Given the description of an element on the screen output the (x, y) to click on. 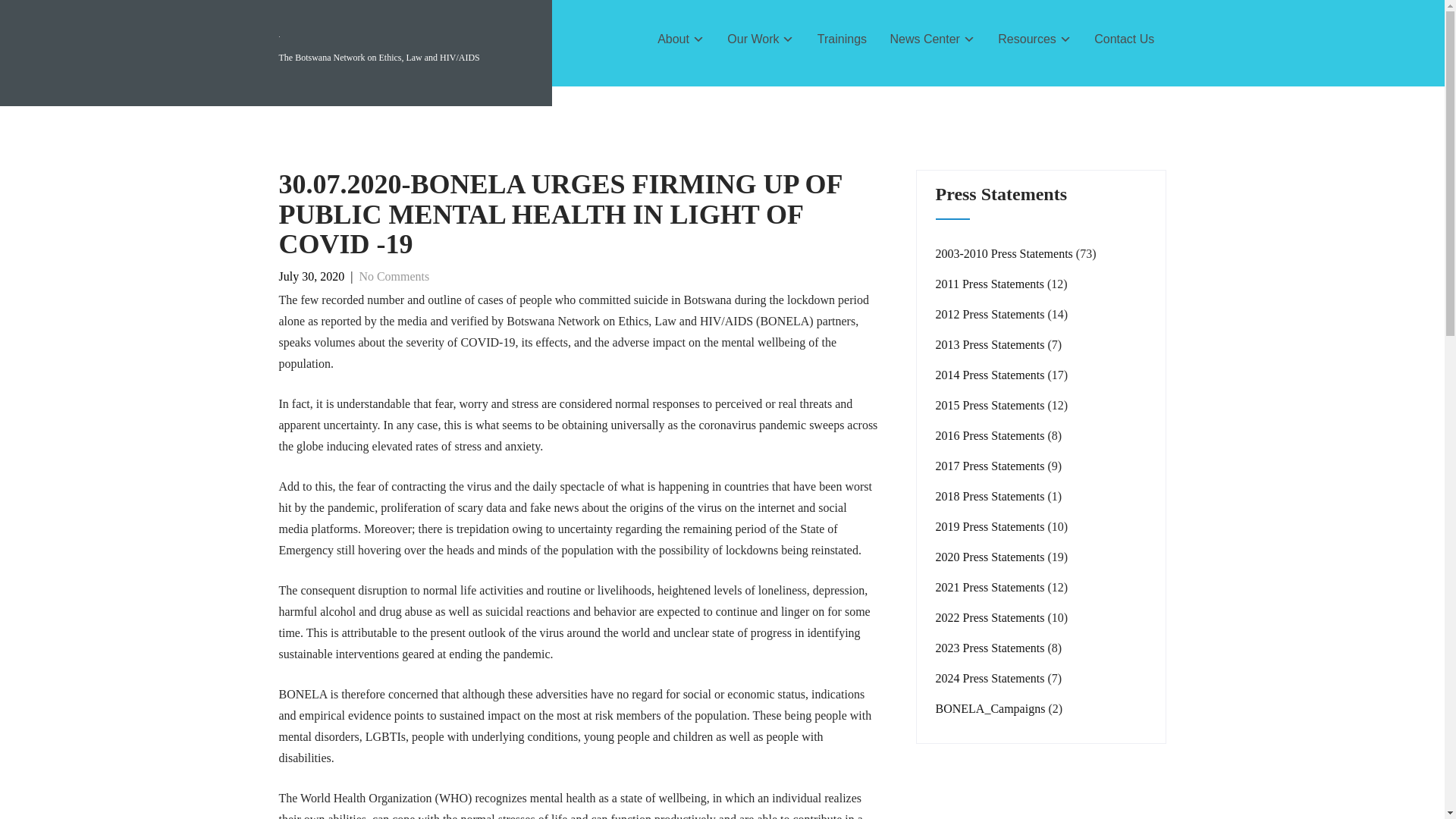
2016 Press Statements (990, 435)
News Center (932, 39)
2017 Press Statements (990, 466)
Our Work (761, 39)
2019 Press Statements (990, 526)
2011 Press Statements (989, 284)
2013 Press Statements (990, 344)
About (681, 39)
2003-2010 Press Statements (1004, 253)
2015 Press Statements (990, 405)
2018 Press Statements (990, 496)
2014 Press Statements (990, 375)
Contact Us (1124, 39)
Trainings (842, 39)
2012 Press Statements (990, 314)
